Given the description of an element on the screen output the (x, y) to click on. 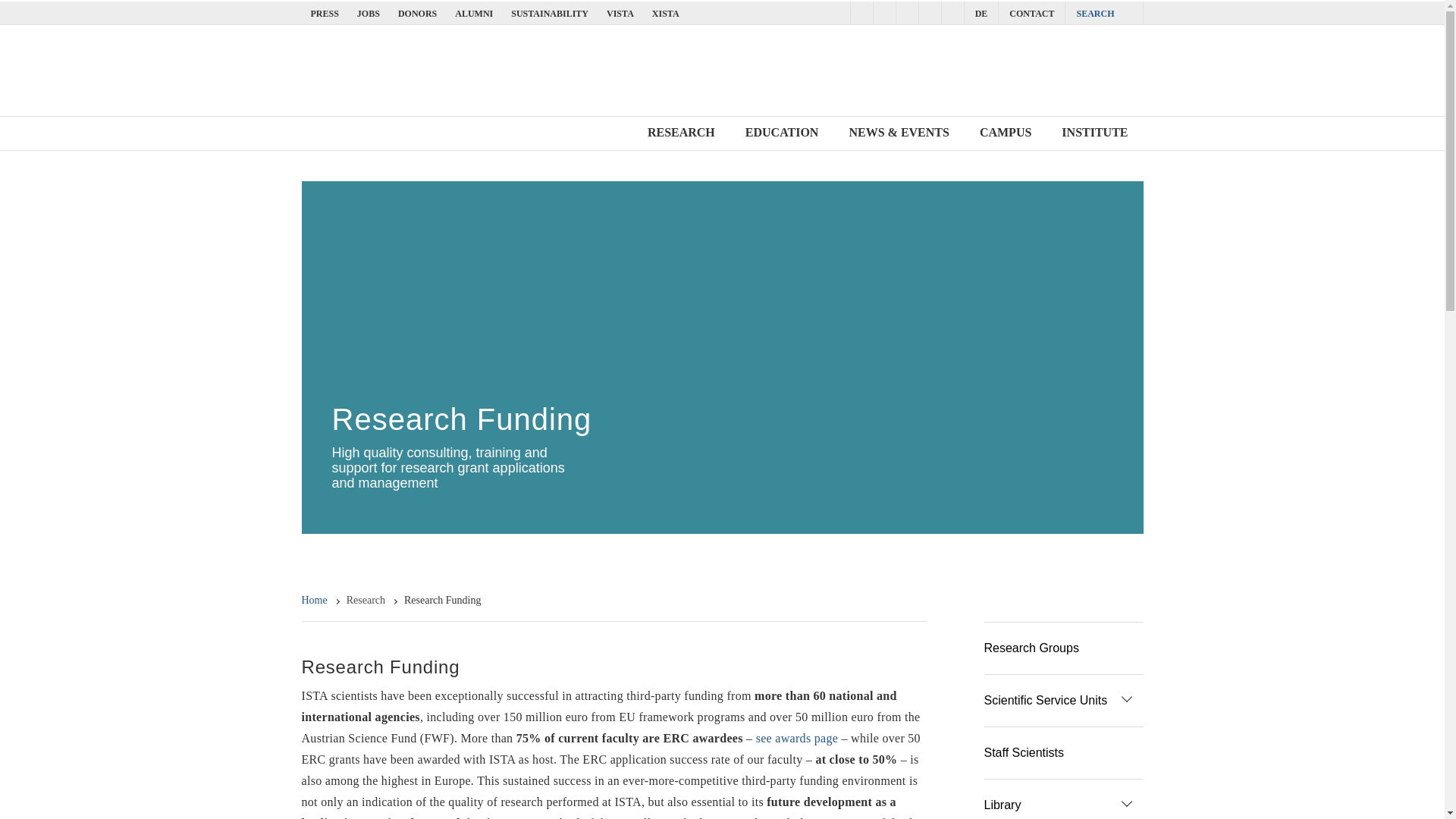
Navigate to ISTA Facebook account (861, 12)
RESEARCH (680, 133)
SEARCH (1103, 13)
EDUCATION (781, 133)
Navigate to ISTA Instagram account (883, 12)
VISTA (620, 13)
XISTA (665, 13)
CONTACT (1031, 13)
ALUMNI (473, 13)
PRESS (325, 13)
